Given the description of an element on the screen output the (x, y) to click on. 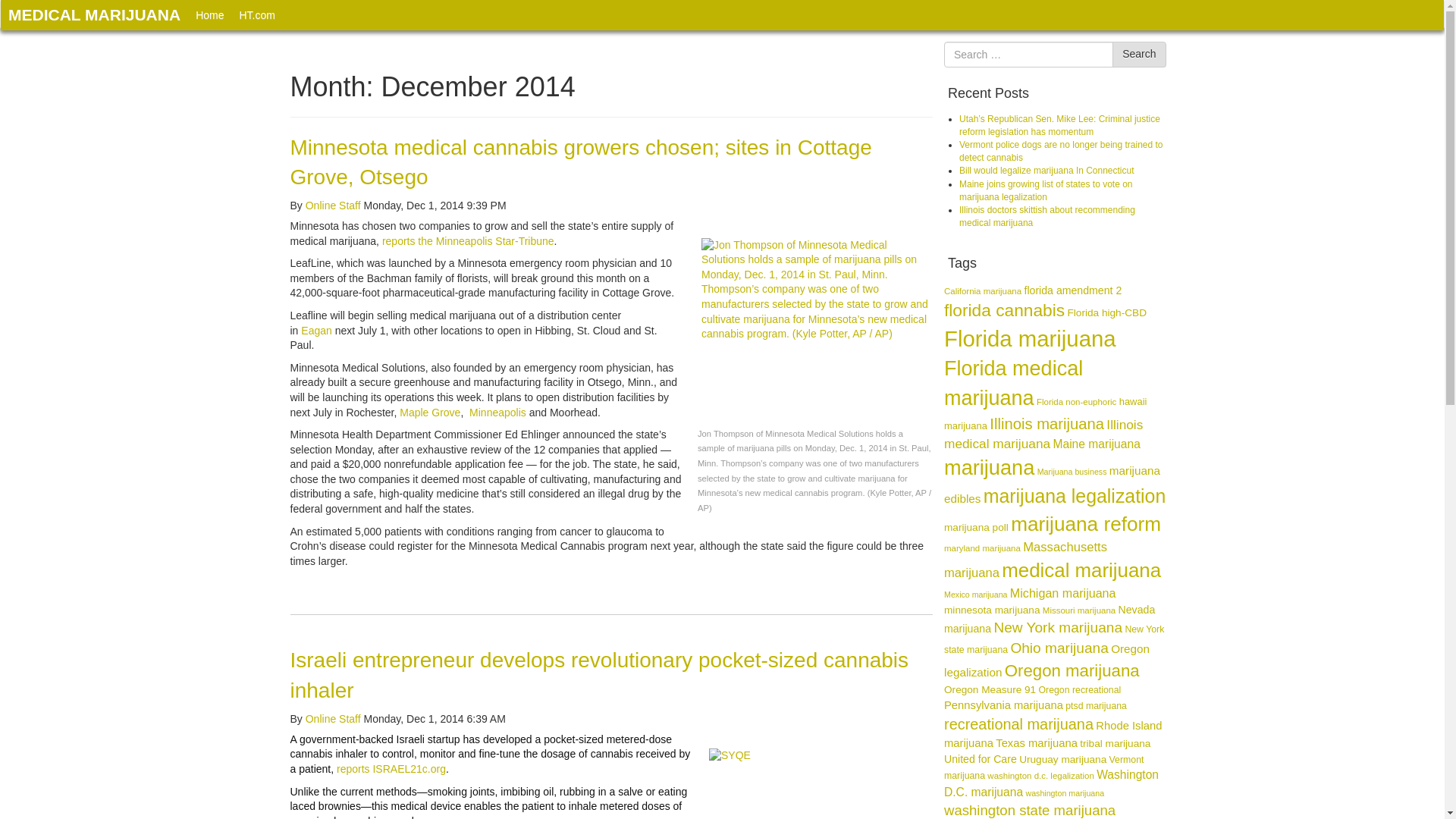
Medical Marijuana (94, 14)
florida amendment 2 (1072, 290)
Online Staff (333, 205)
MEDICAL MARIJUANA (94, 14)
Bill would legalize marijuana In Connecticut (1046, 170)
California marijuana (982, 290)
